Given the description of an element on the screen output the (x, y) to click on. 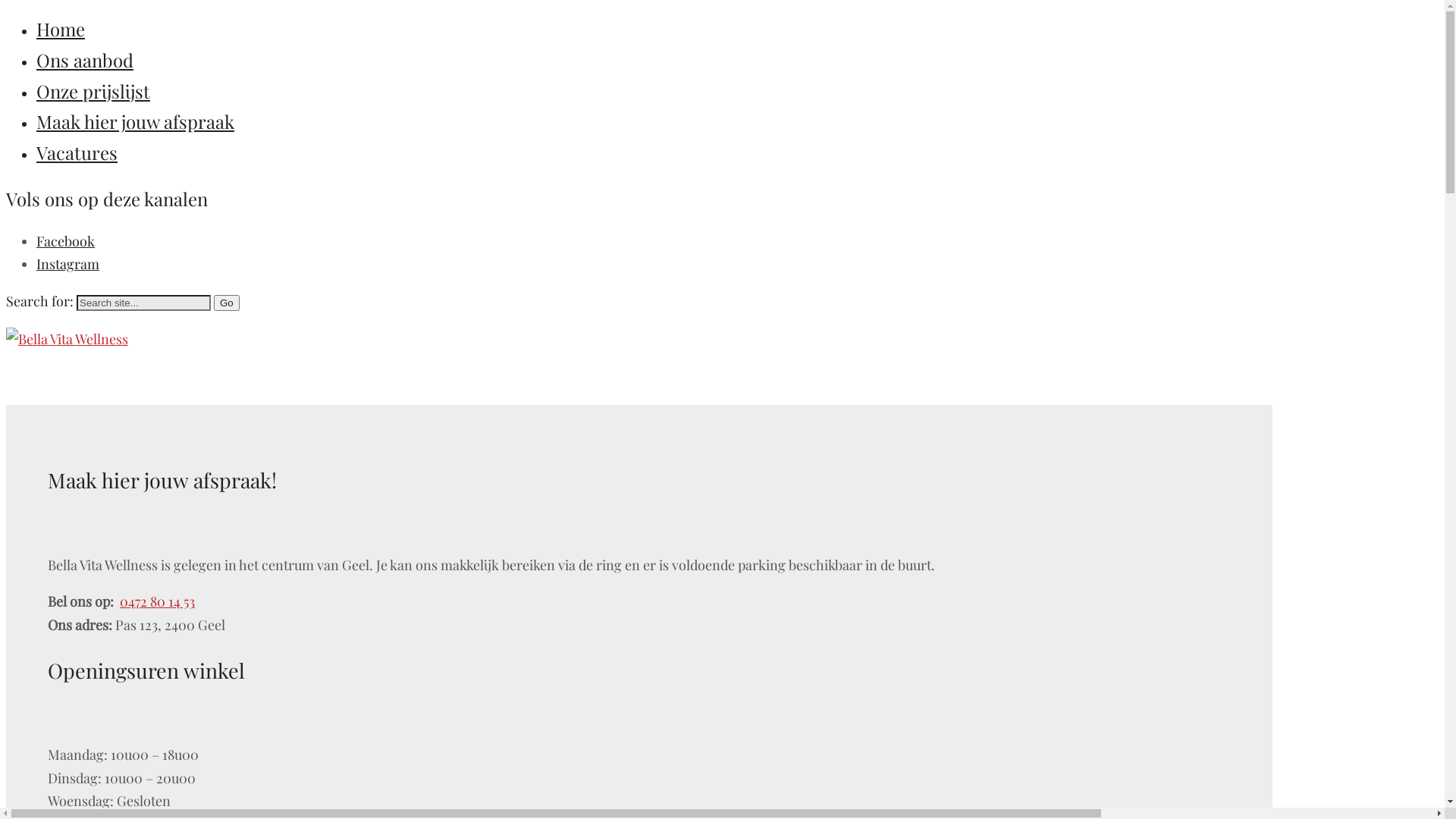
Maak hier jouw afspraak Element type: text (135, 121)
Facebook Element type: text (65, 241)
0472 80 14 53 Element type: text (156, 601)
Instagram Element type: text (67, 263)
Go Element type: text (226, 302)
Onze prijslijst Element type: text (93, 90)
Vacatures Element type: text (76, 152)
Search for: Element type: hover (143, 302)
Home Element type: text (60, 28)
Ons aanbod Element type: text (84, 59)
